Given the description of an element on the screen output the (x, y) to click on. 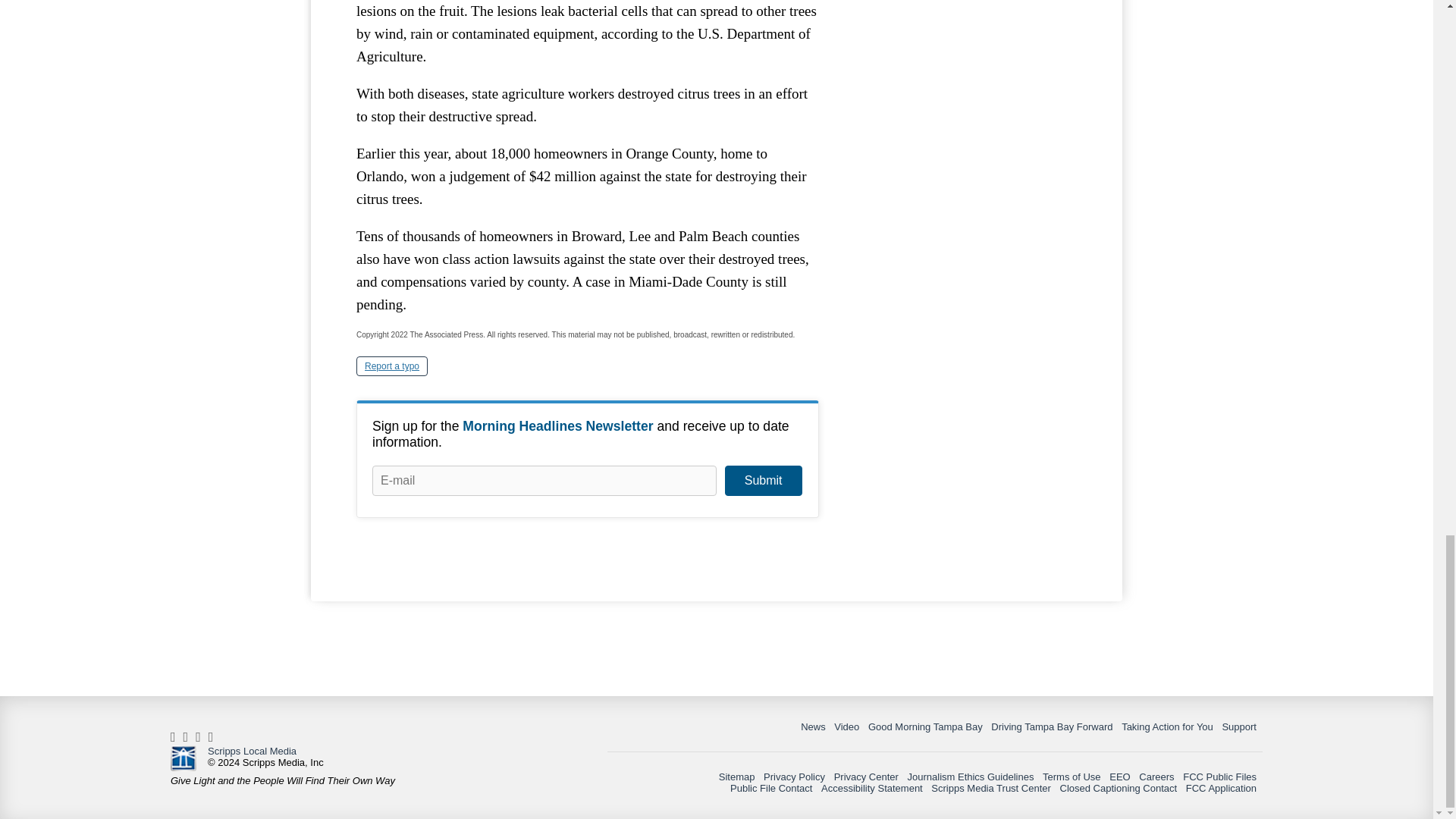
Submit (763, 481)
